Given the description of an element on the screen output the (x, y) to click on. 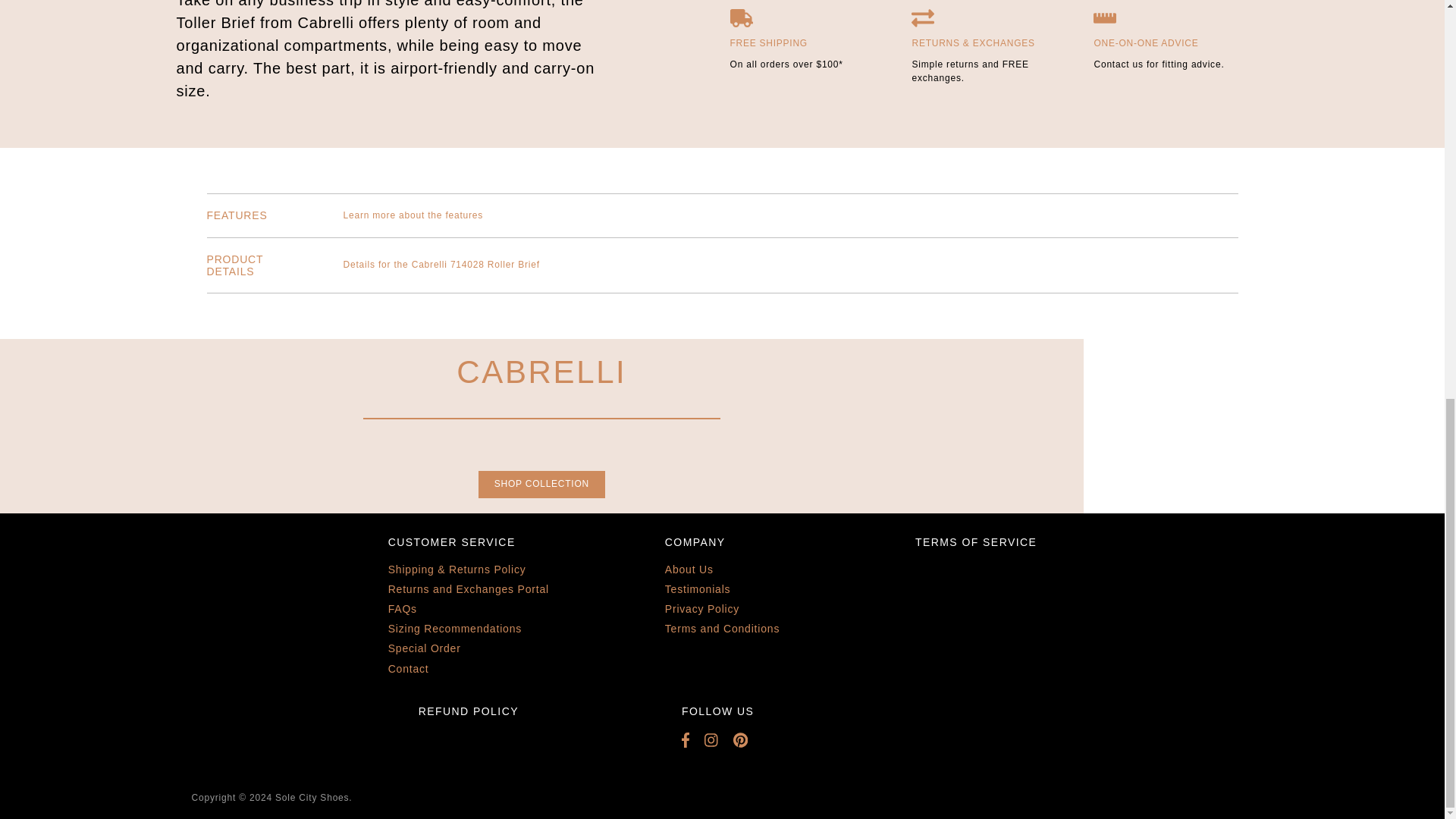
Sole City Shoes on Instagram (718, 739)
Sole City Shoes on Facebook (692, 739)
Sole City Shoes on Pinterest (747, 739)
